Given the description of an element on the screen output the (x, y) to click on. 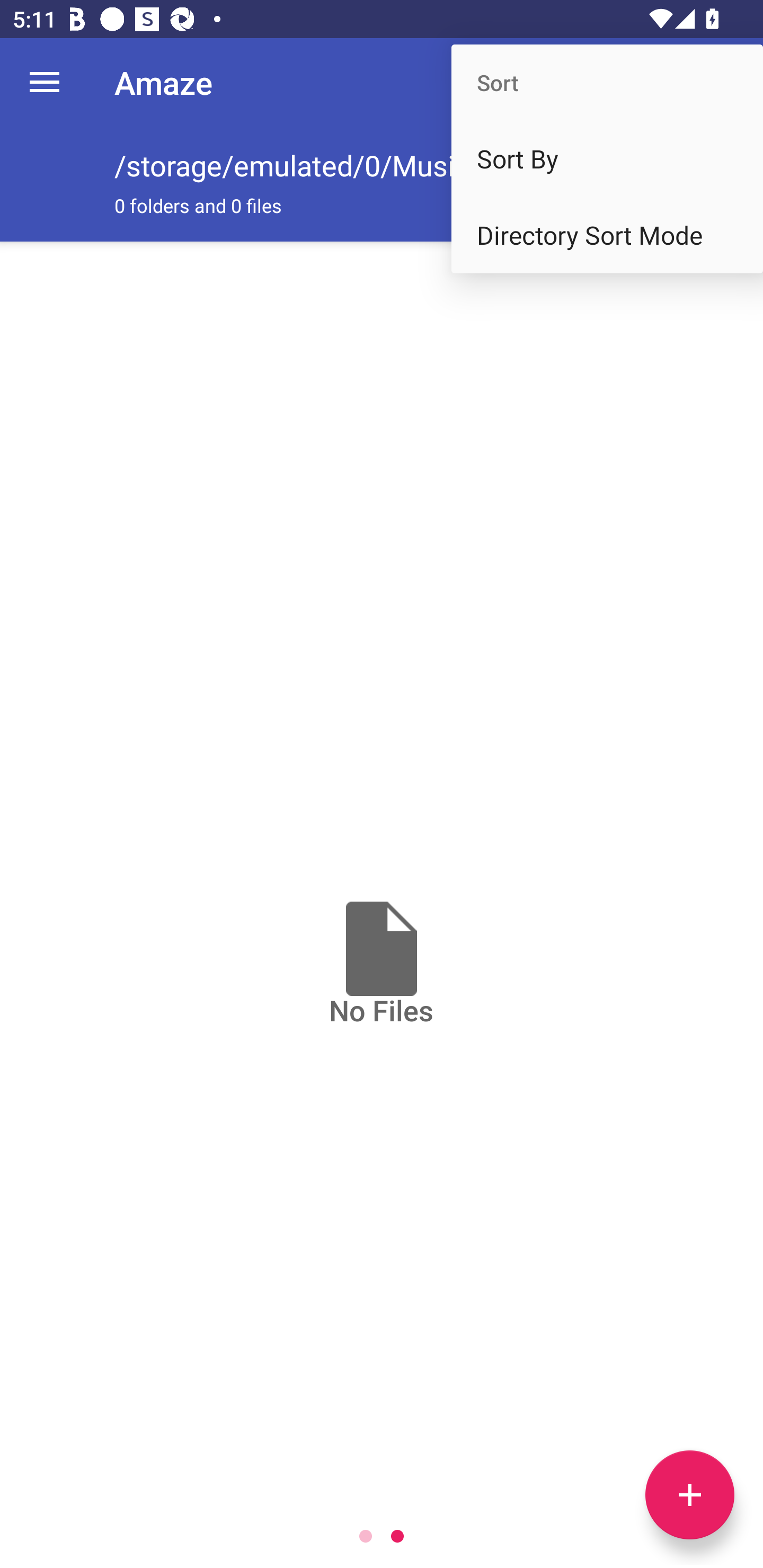
Sort By (607, 158)
Directory Sort Mode (607, 234)
